Given the description of an element on the screen output the (x, y) to click on. 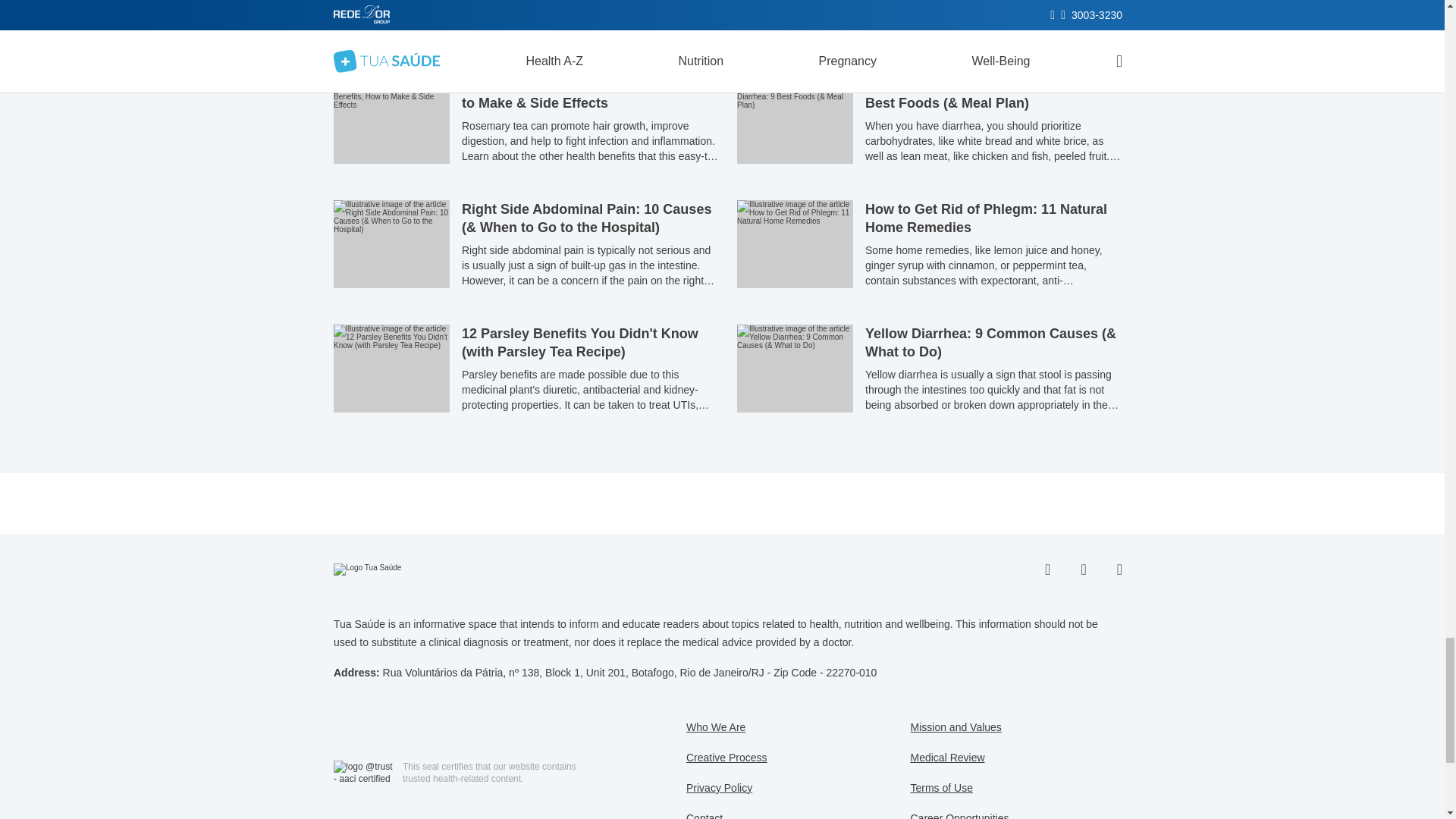
Mission and Values (955, 727)
Who We Are (715, 727)
Contact (703, 815)
Privacy Policy (718, 787)
Career Opportunities (959, 815)
Medical Review (947, 757)
Creative Process (726, 757)
Terms of Use (941, 787)
